Given the description of an element on the screen output the (x, y) to click on. 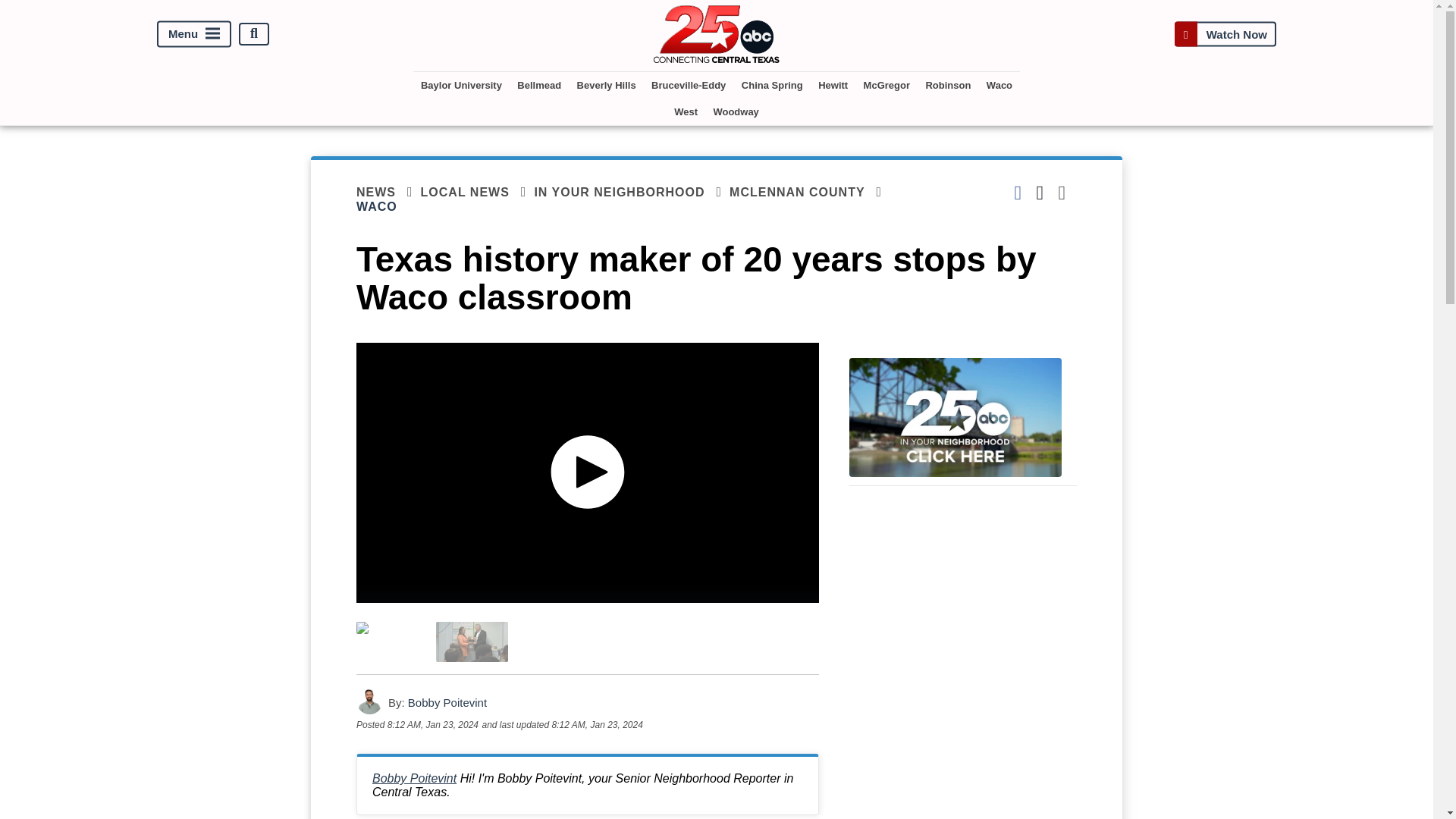
Watch Now (1224, 33)
Menu (194, 33)
